Given the description of an element on the screen output the (x, y) to click on. 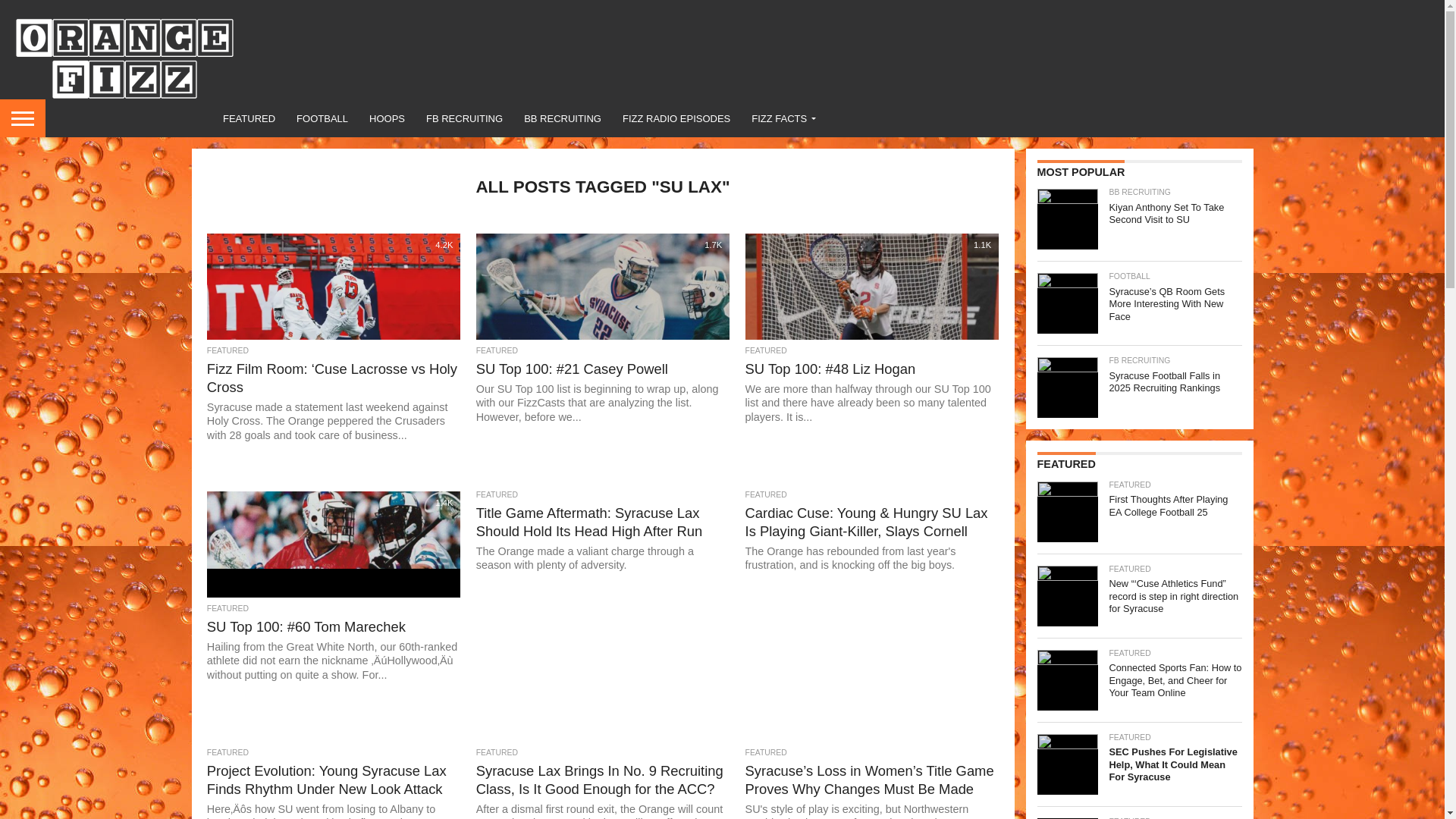
FOOTBALL (321, 118)
HOOPS (386, 118)
FEATURED (248, 118)
